Given the description of an element on the screen output the (x, y) to click on. 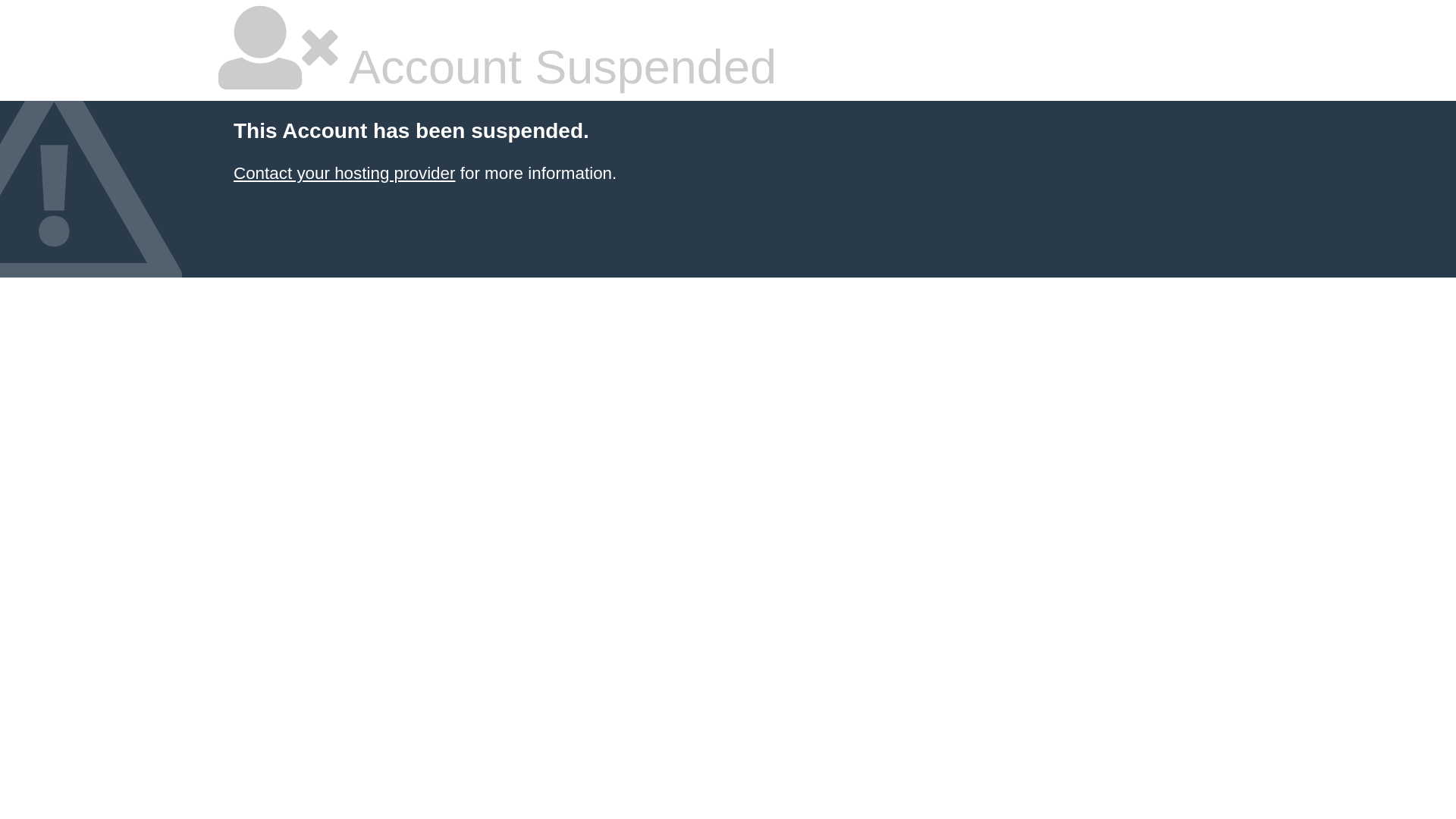
Contact your hosting provider Element type: text (344, 172)
